Given the description of an element on the screen output the (x, y) to click on. 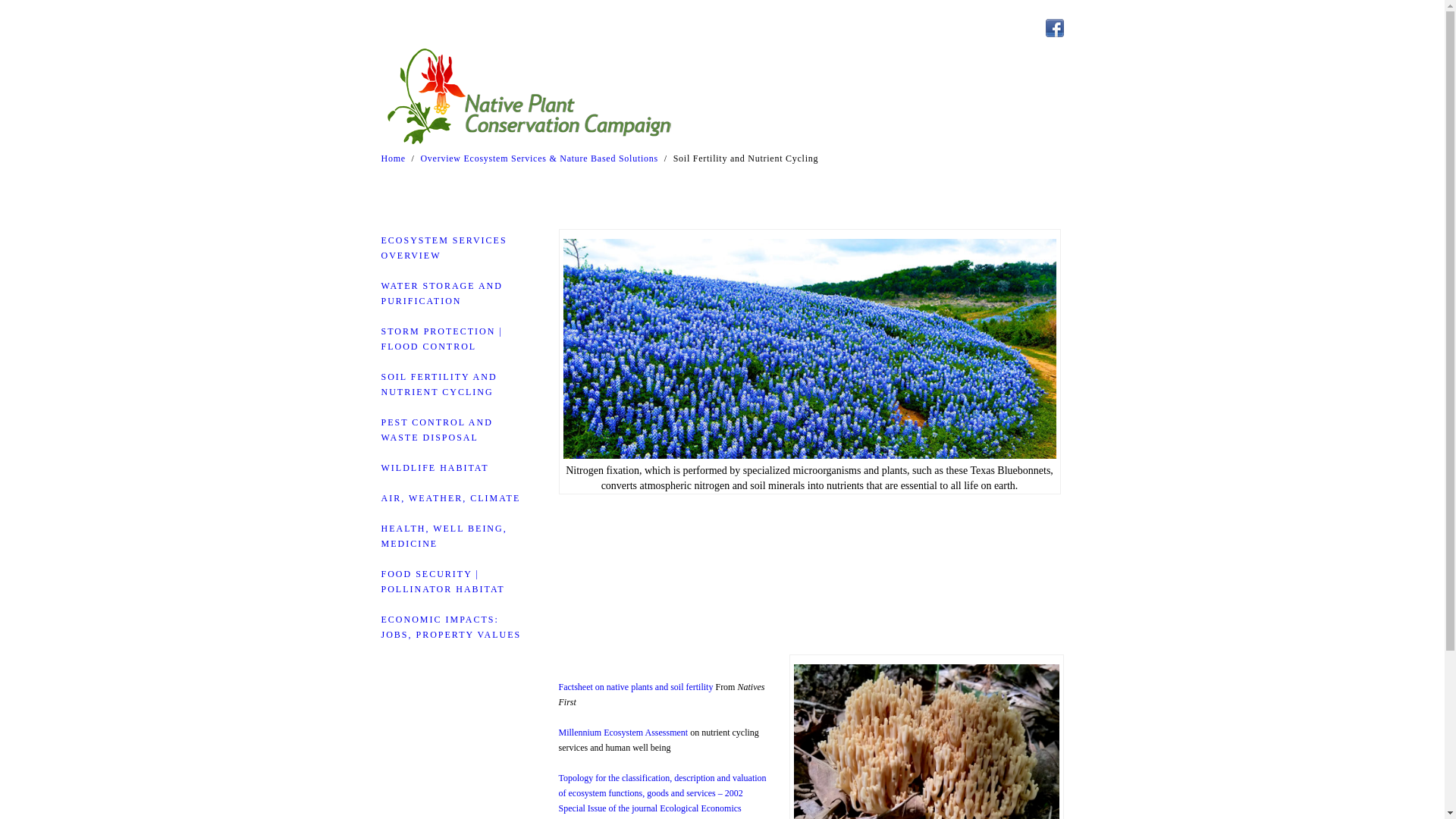
Home (392, 158)
Ecosystem Services Resources Sections (913, 78)
Millennium Ecosystem Assessment (622, 732)
PEST CONTROL AND WASTE DISPOSAL (436, 429)
WATER STORAGE AND PURIFICATION (441, 293)
WILDLIFE HABITAT (433, 467)
ECONOMIC IMPACTS: JOBS, PROPERTY VALUES (450, 626)
HEALTH, WELL BEING, MEDICINE (443, 535)
LAWS (1038, 78)
ECOSYSTEM SERVICES OVERVIEW (443, 248)
